Given the description of an element on the screen output the (x, y) to click on. 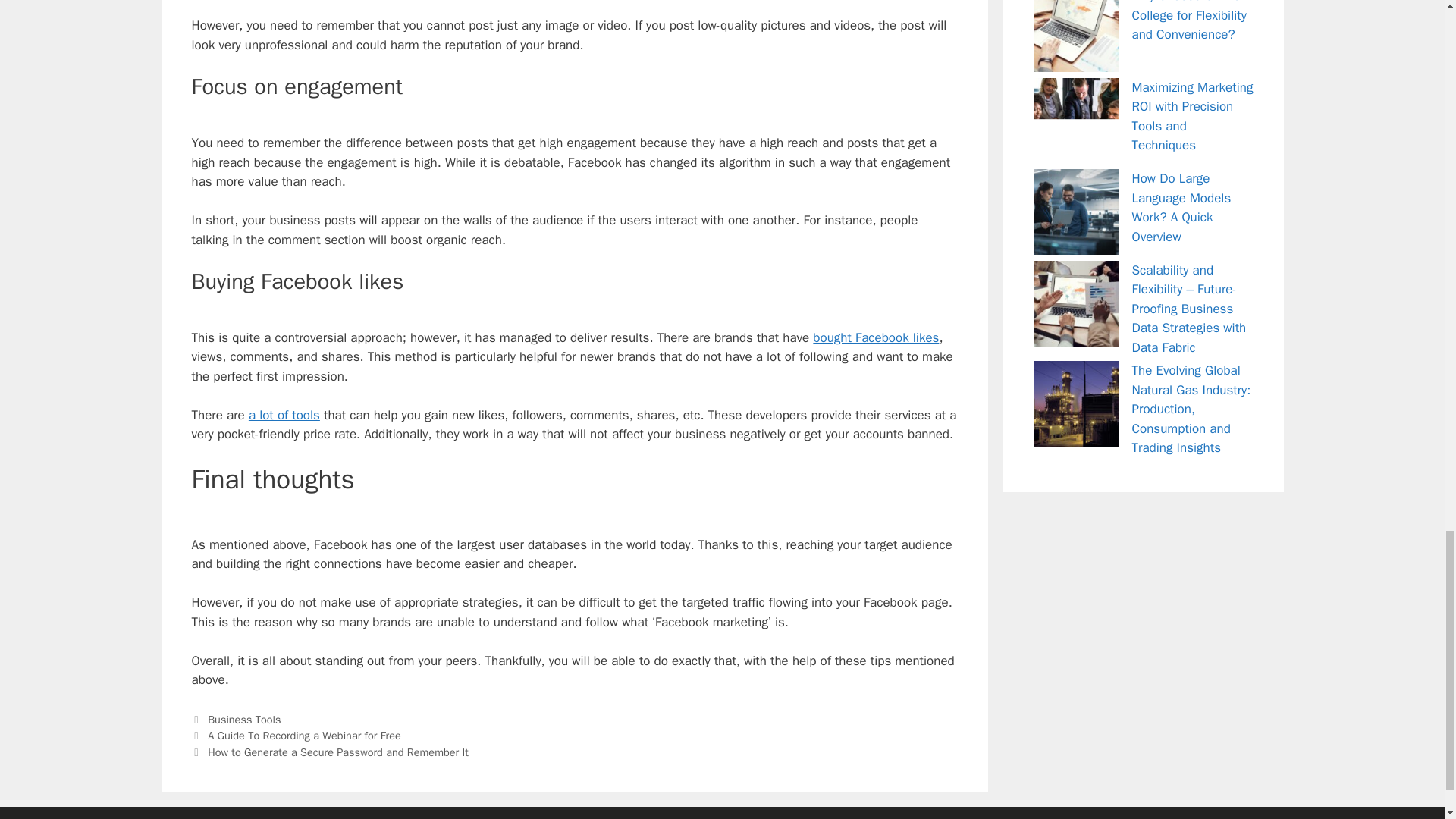
a lot of tools (284, 415)
Business Tools (244, 719)
Previous (295, 735)
Maximizing Marketing ROI with Precision Tools and Techniques (1191, 115)
bought Facebook likes (875, 337)
How to Generate a Secure Password and Remember It (338, 752)
How Do Large Language Models Work? A Quick Overview (1180, 207)
Why Choose Online College for Flexibility and Convenience? (1188, 21)
A Guide To Recording a Webinar for Free (304, 735)
